Given the description of an element on the screen output the (x, y) to click on. 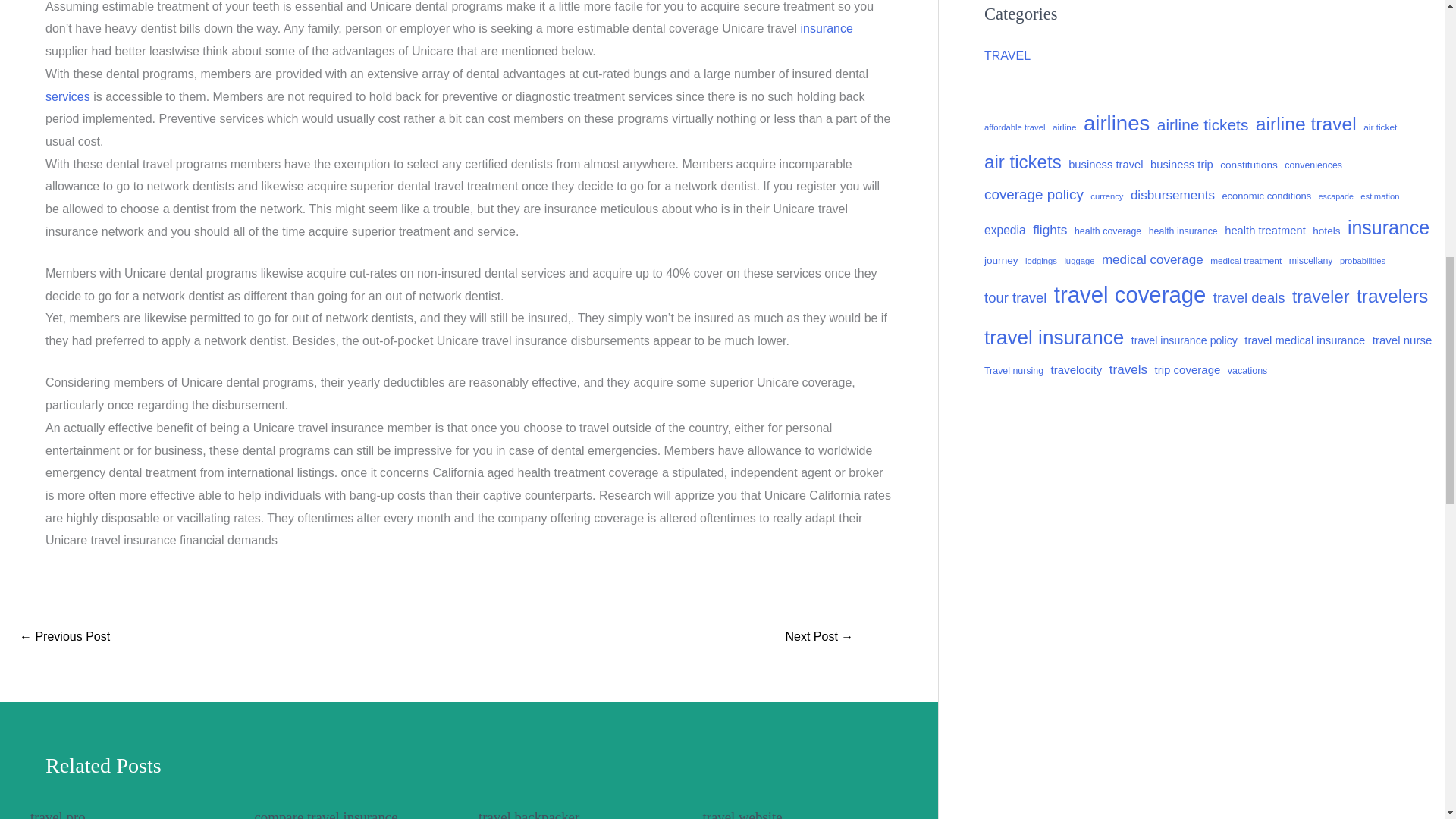
Mutual community travel insurance  (64, 637)
travel backpacker (529, 814)
compare travel insurance (325, 814)
TRAVEL (1007, 55)
Medical travel insurance UK  (818, 637)
travel website (741, 814)
services (67, 96)
travel pro (57, 814)
insurance (825, 28)
